Given the description of an element on the screen output the (x, y) to click on. 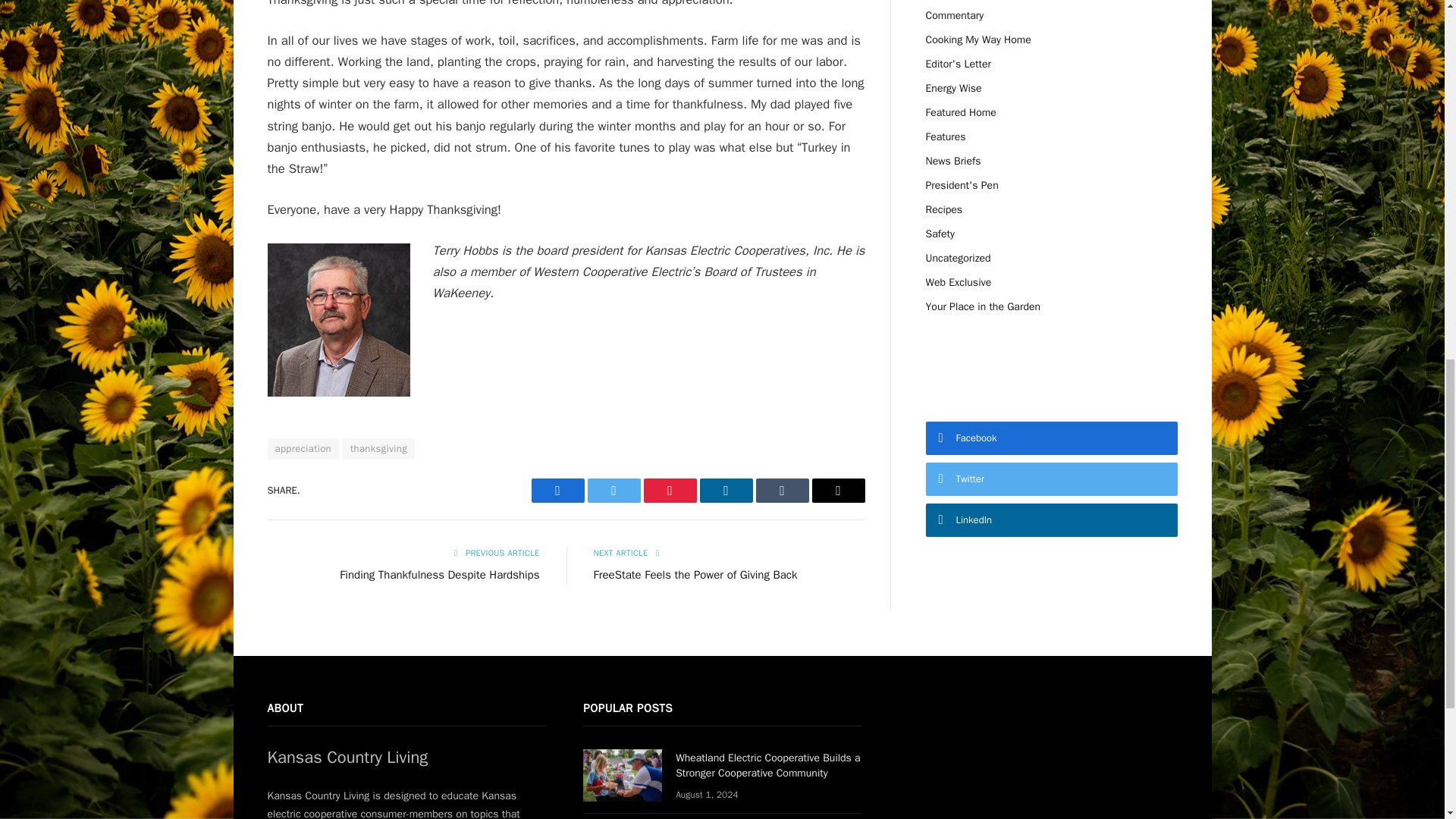
Share on Pinterest (669, 490)
Share on LinkedIn (725, 490)
Share on Facebook (557, 490)
